Given the description of an element on the screen output the (x, y) to click on. 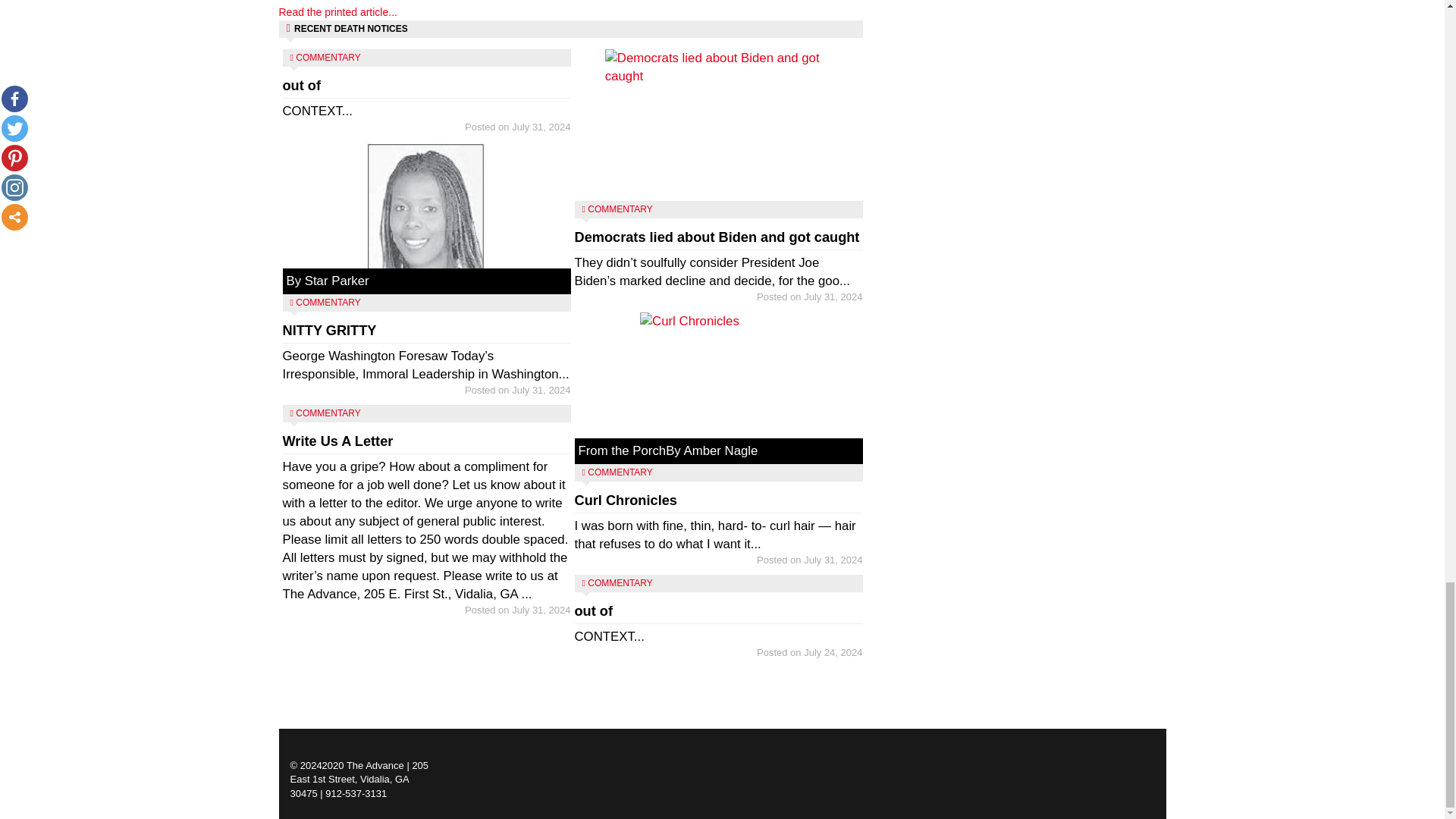
COMMENTARY (328, 57)
NITTY GRITTY (328, 330)
COMMENTARY (328, 302)
Write Us A Letter (337, 441)
Read the printed article... (426, 118)
COMMENTARY (338, 11)
out of (328, 412)
